Given the description of an element on the screen output the (x, y) to click on. 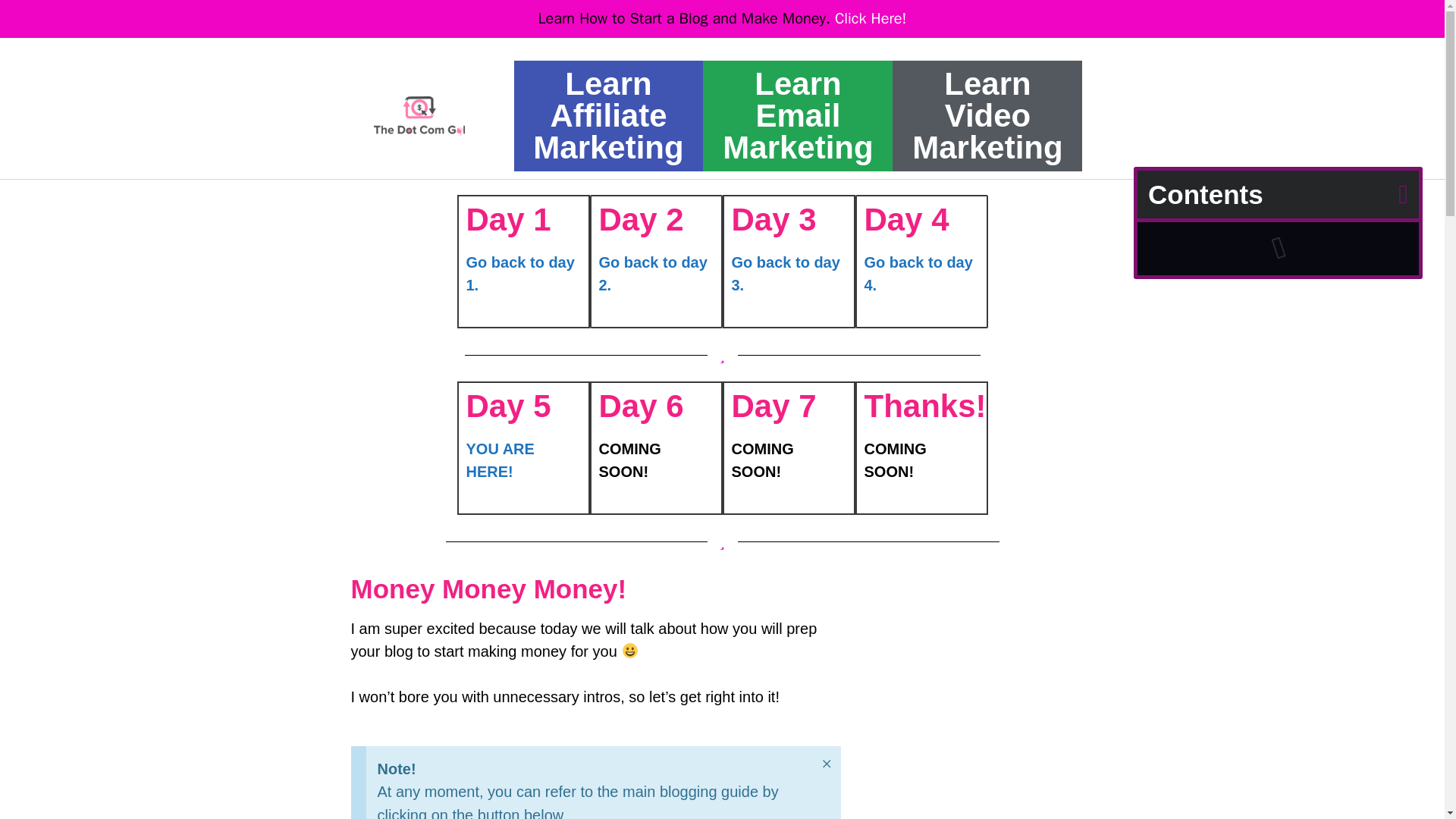
YOU ARE HERE! (499, 459)
Learn Email Marketing (797, 115)
Go back to day 1. (519, 273)
Go back to day 2. (652, 273)
Go back to day 3. (785, 273)
blogging course day 5 (418, 115)
Go back to day 4. (918, 273)
Click Here! (870, 18)
Learn Affiliate Marketing (607, 115)
Learn Video Marketing (987, 115)
